Given the description of an element on the screen output the (x, y) to click on. 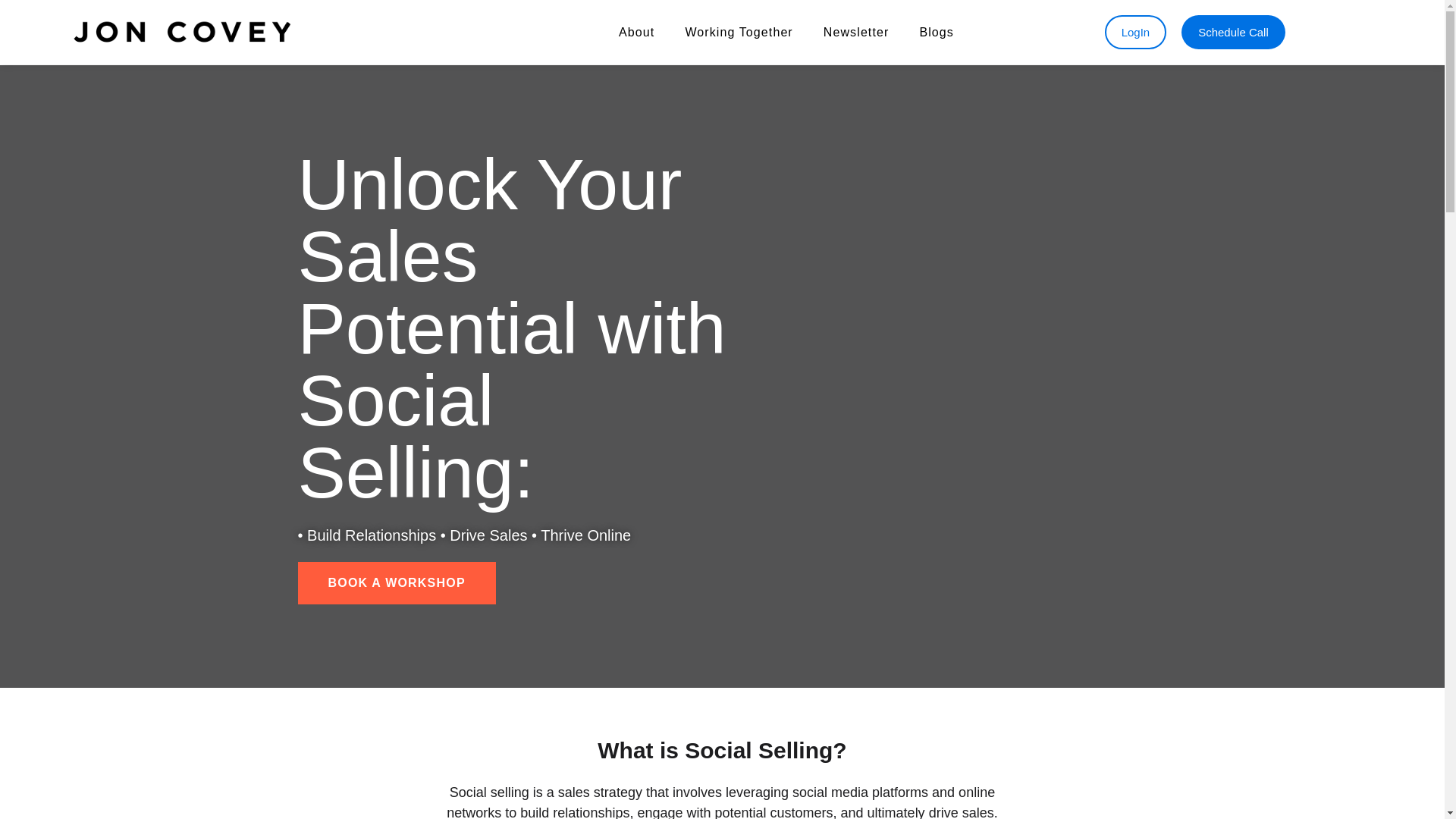
Working Together (738, 32)
Blogs (936, 32)
About (636, 32)
Schedule Call (1232, 32)
LogIn (1136, 32)
Newsletter (856, 32)
BOOK A WORKSHOP (396, 582)
